Given the description of an element on the screen output the (x, y) to click on. 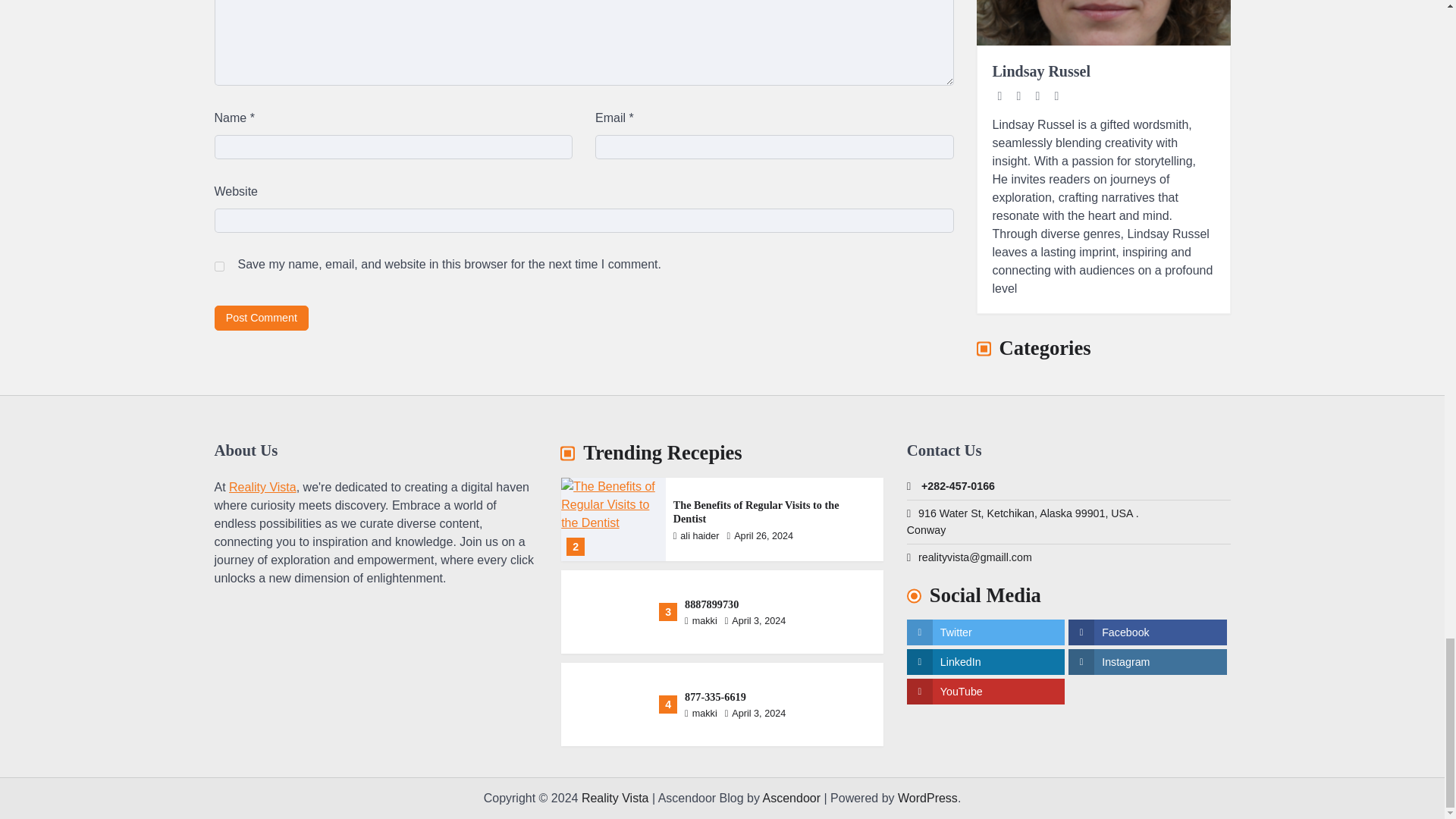
Post Comment (261, 317)
Post Comment (261, 317)
yes (219, 266)
